Given the description of an element on the screen output the (x, y) to click on. 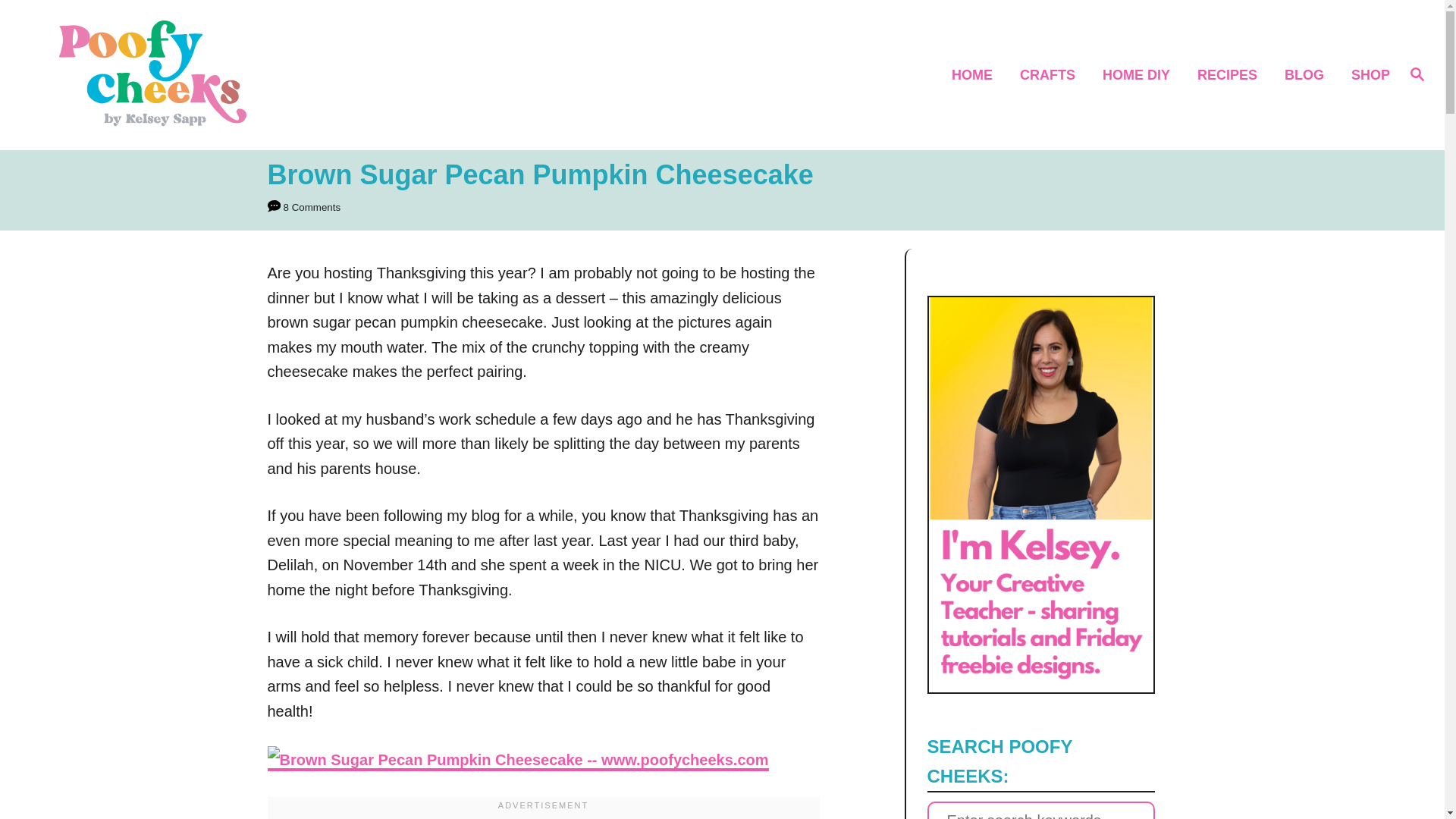
BLOG (1308, 75)
Magnifying Glass (1416, 74)
Brown Sugar Pecan Pumpkin Cheesecake -- www.poofycheeks.com (517, 759)
RECIPES (1231, 75)
HOME DIY (1140, 75)
Poofy Cheeks (204, 74)
HOME (976, 75)
SHOP (1366, 75)
Search for: (1040, 810)
CRAFTS (1051, 75)
